Given the description of an element on the screen output the (x, y) to click on. 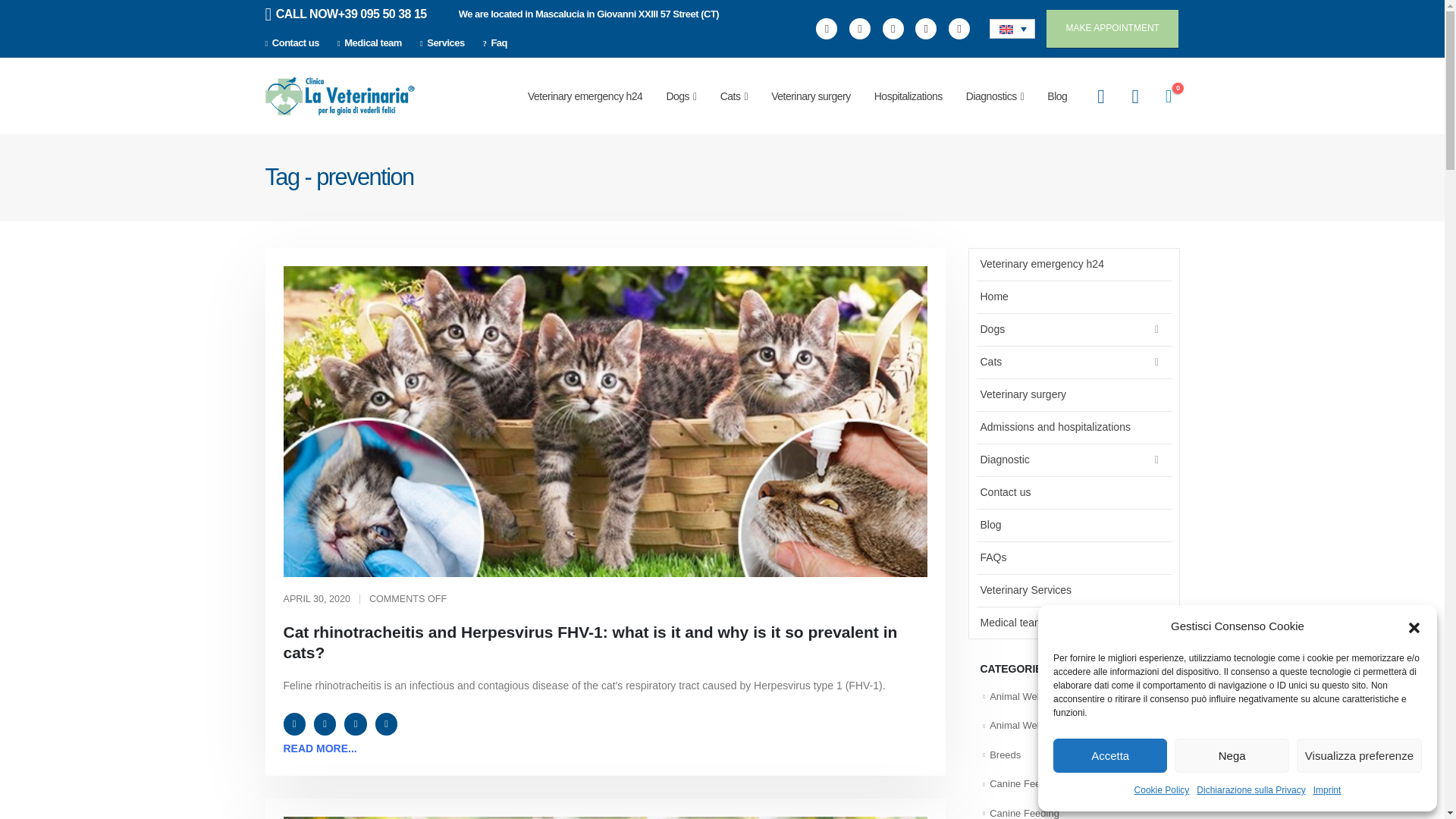
Facebook (826, 28)
Cookie Policy (1161, 790)
Twitter (859, 28)
Contact us (295, 42)
LinkedIn (959, 28)
Youtube (893, 28)
Services (441, 42)
Instagram (925, 28)
Accetta (1109, 755)
Visualizza preferenze (1359, 755)
Dichiarazione sulla Privacy (1250, 790)
MAKE APPOINTMENT (1112, 28)
Veterinary emergency h24 (584, 96)
Dogs (680, 96)
Cats (733, 96)
